Given the description of an element on the screen output the (x, y) to click on. 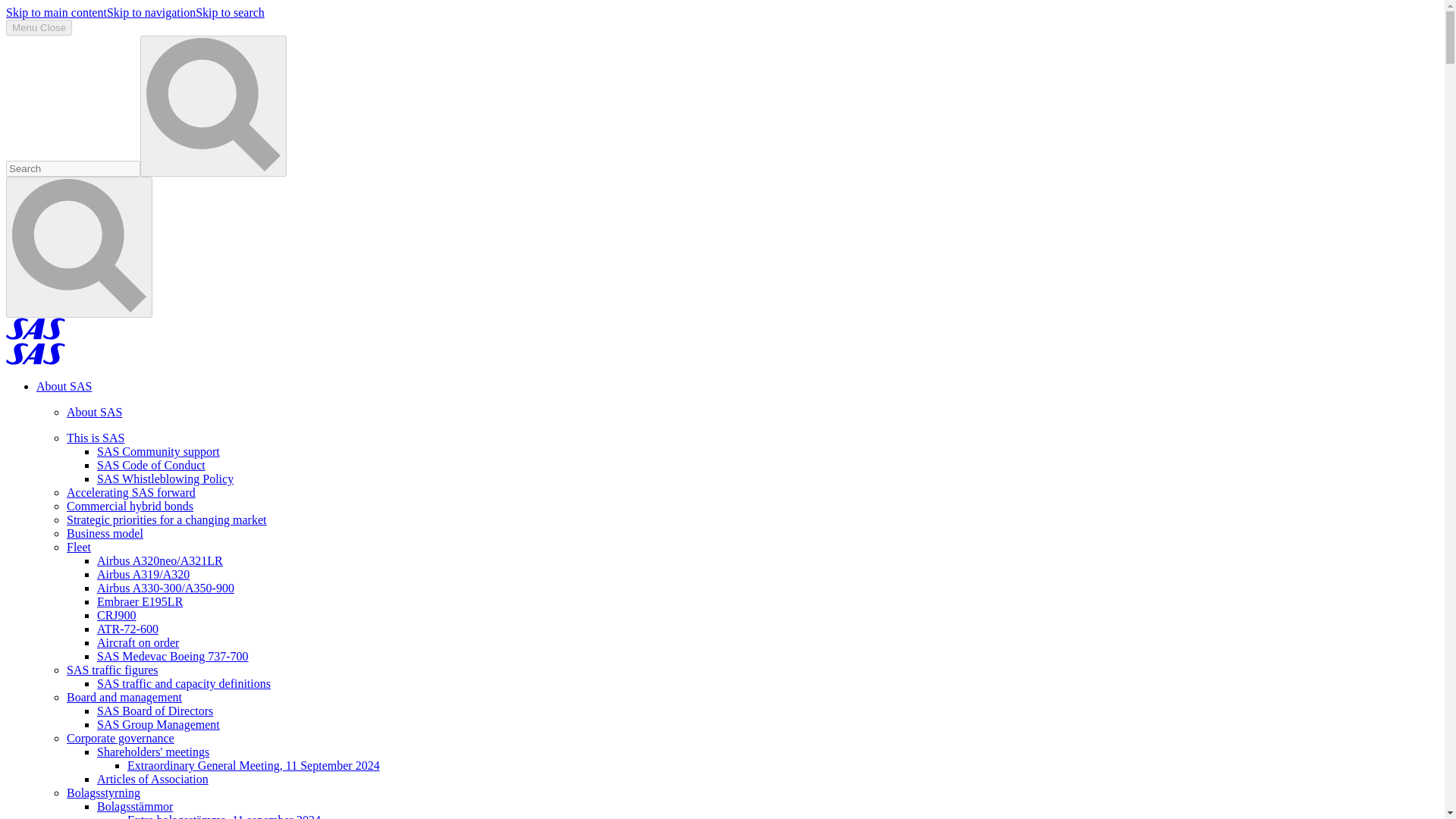
Embraer E195LR (140, 601)
Shareholders' meetings (153, 751)
About SAS (63, 386)
SAS Code of Conduct (151, 464)
Articles of Association (152, 779)
Fleet (78, 546)
Strategic priorities for a changing market (166, 519)
This is SAS (94, 437)
SAS traffic figures (112, 669)
Extraordinary General Meeting, 11 September 2024 (254, 765)
